Given the description of an element on the screen output the (x, y) to click on. 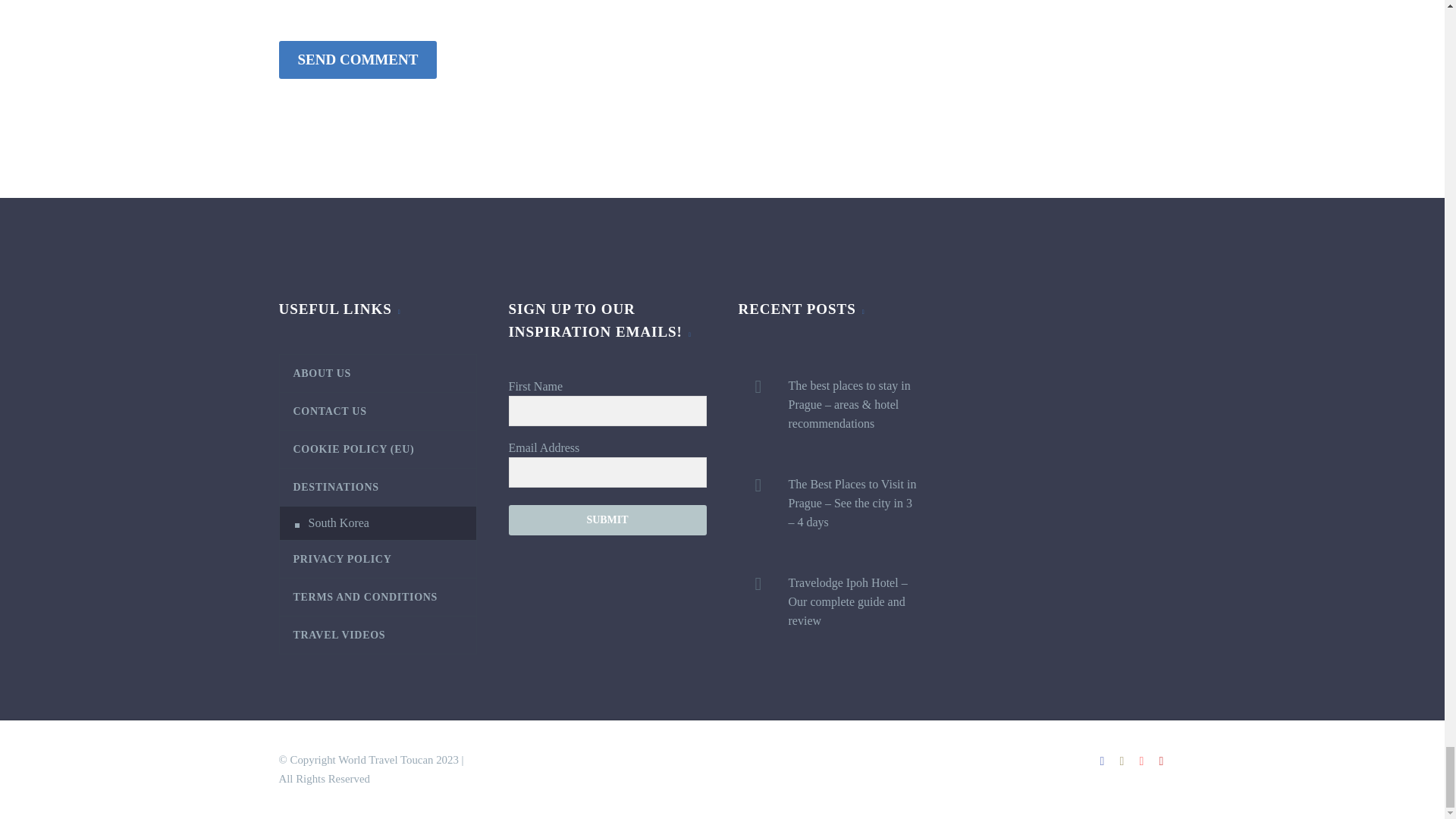
Facebook (1102, 761)
